Given the description of an element on the screen output the (x, y) to click on. 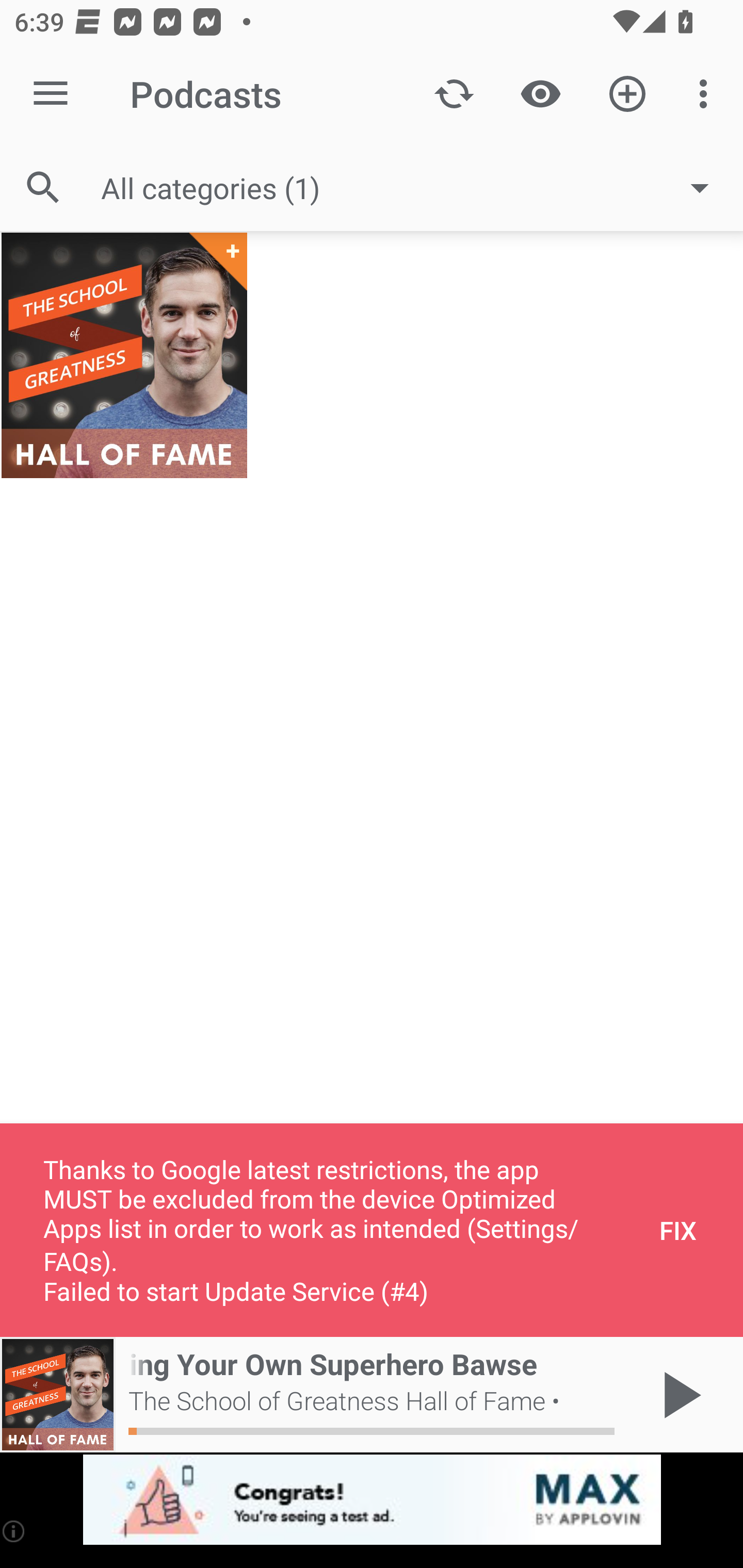
Open navigation sidebar (50, 93)
Update (453, 93)
Show / Hide played content (540, 93)
Add new Podcast (626, 93)
More options (706, 93)
Search (43, 187)
All categories (1) (414, 188)
The School of Greatness Hall of Fame + (124, 355)
FIX (677, 1229)
Play / Pause (677, 1394)
app-monetization (371, 1500)
(i) (14, 1531)
